Given the description of an element on the screen output the (x, y) to click on. 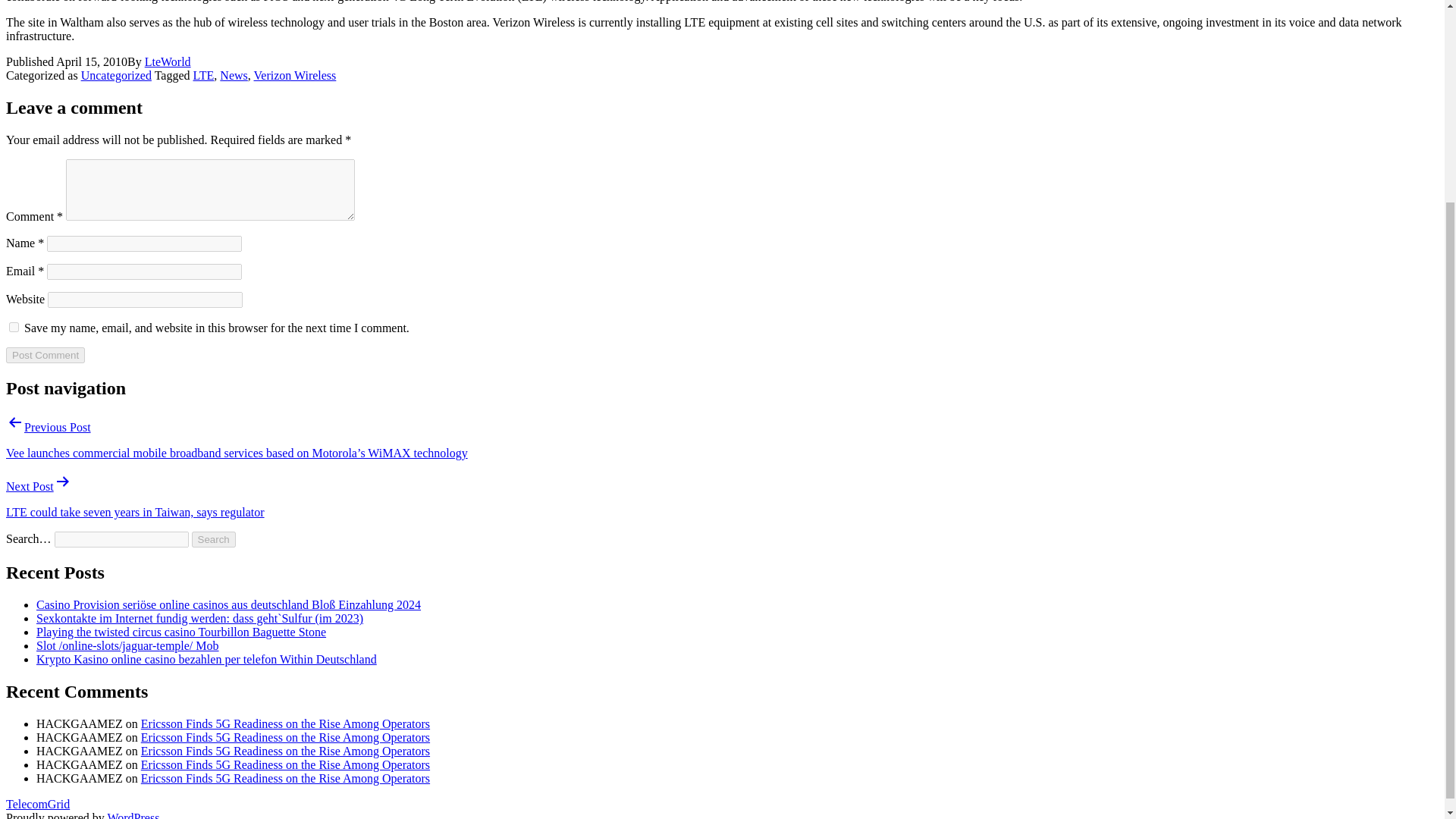
TelecomGrid (37, 803)
Search (213, 539)
Ericsson Finds 5G Readiness on the Rise Among Operators (285, 778)
LteWorld (167, 61)
Uncategorized (116, 74)
Ericsson Finds 5G Readiness on the Rise Among Operators (285, 737)
Search (213, 539)
LTE (203, 74)
Ericsson Finds 5G Readiness on the Rise Among Operators (285, 750)
Verizon Wireless (294, 74)
News (233, 74)
Post Comment (44, 355)
Post Comment (44, 355)
Ericsson Finds 5G Readiness on the Rise Among Operators (285, 764)
